Given the description of an element on the screen output the (x, y) to click on. 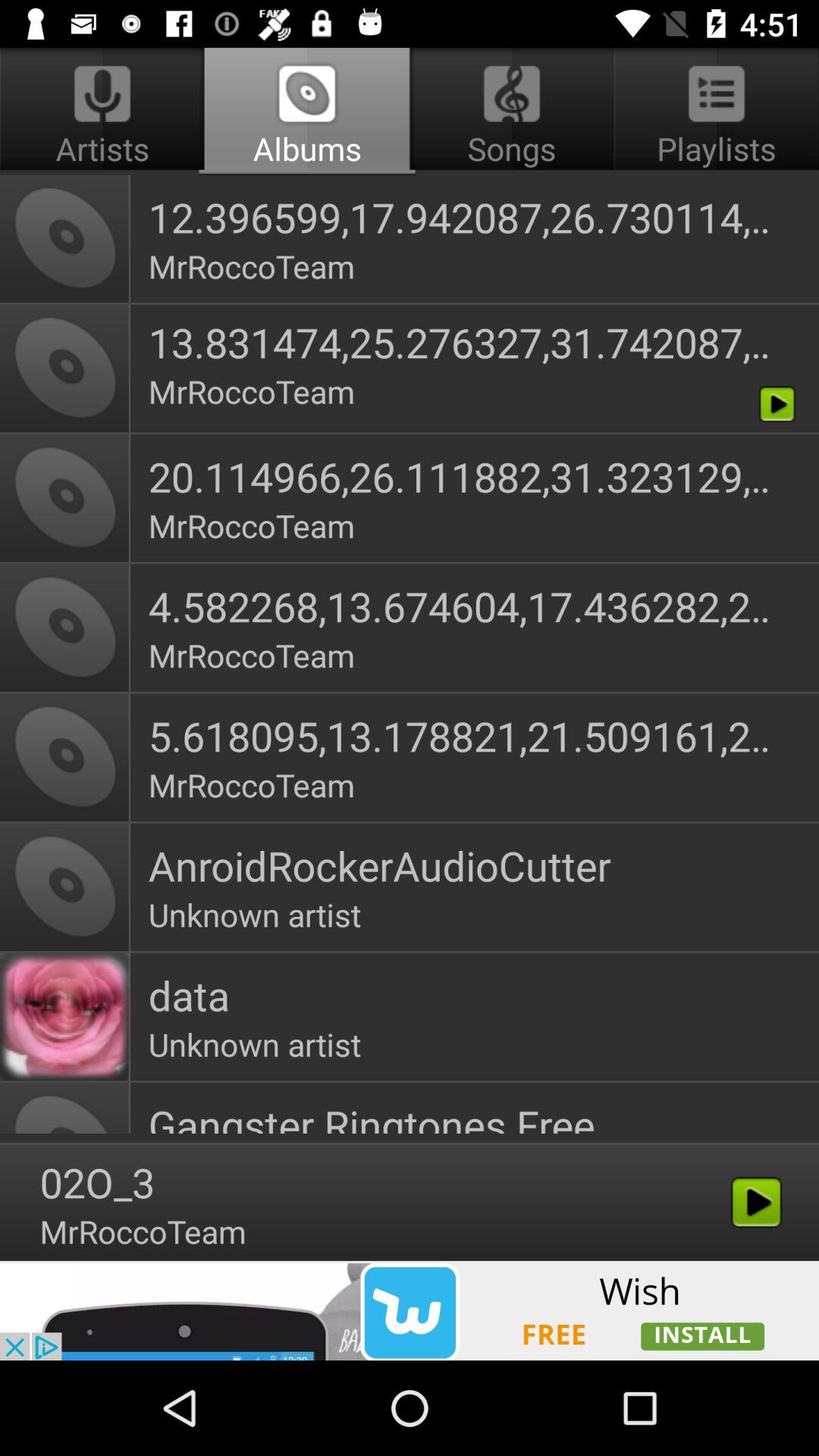
add the option (409, 1310)
